Given the description of an element on the screen output the (x, y) to click on. 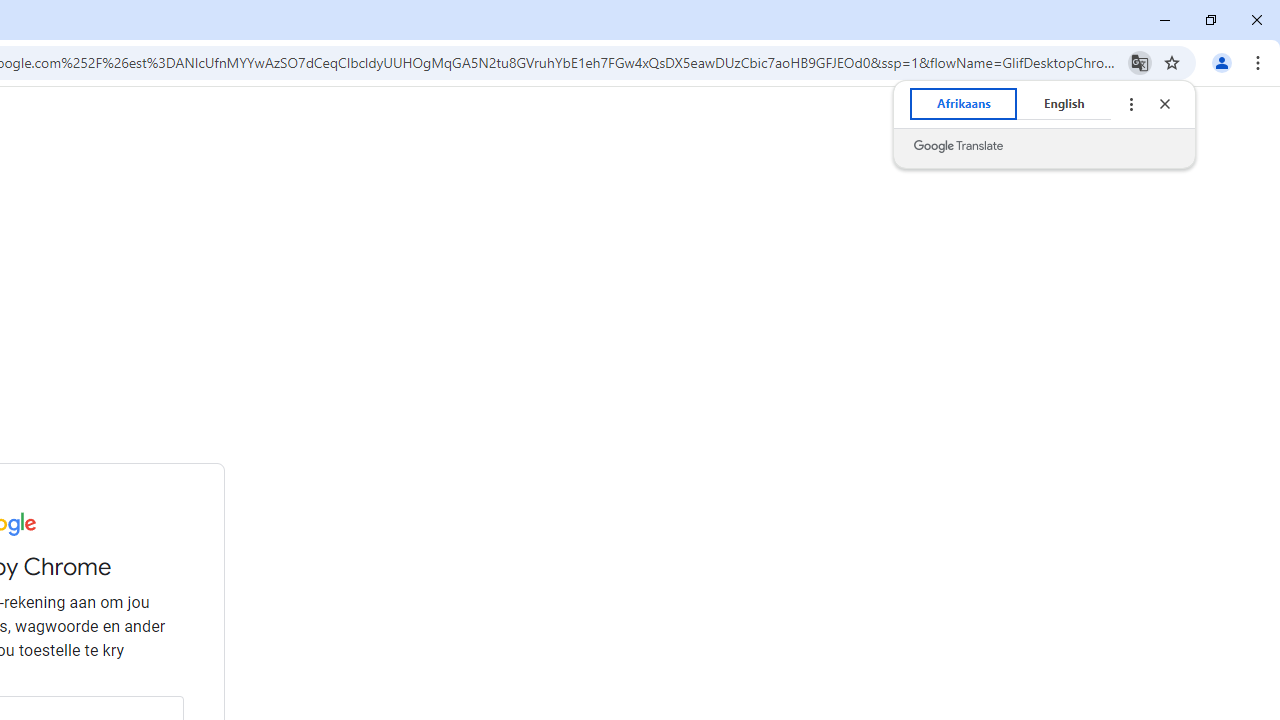
English (1064, 103)
Afrikaans (963, 103)
Translate this page (1139, 62)
Translate options (1130, 103)
